Given the description of an element on the screen output the (x, y) to click on. 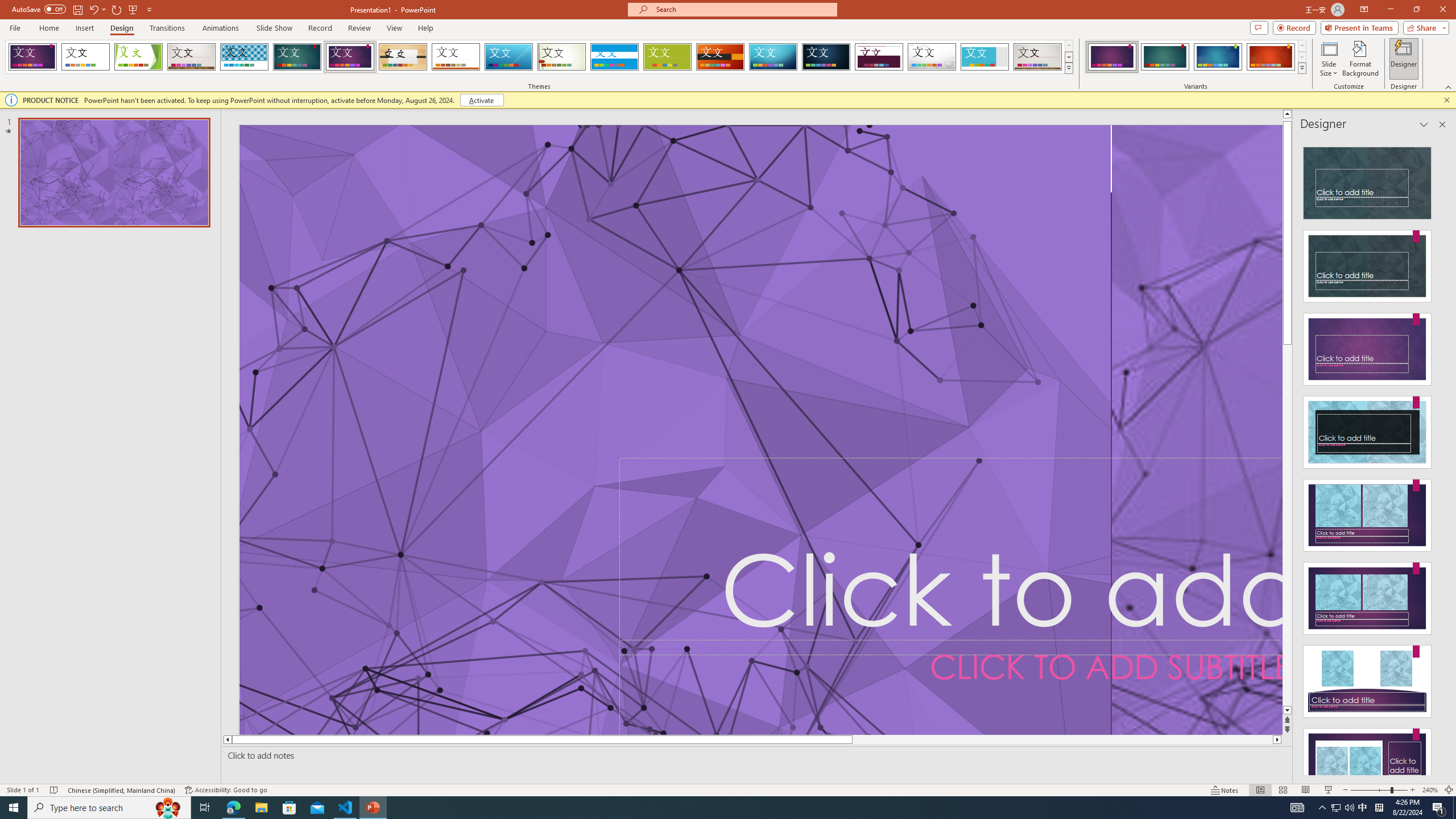
Circuit (772, 56)
Ion Boardroom (350, 56)
Banded (614, 56)
